Given the description of an element on the screen output the (x, y) to click on. 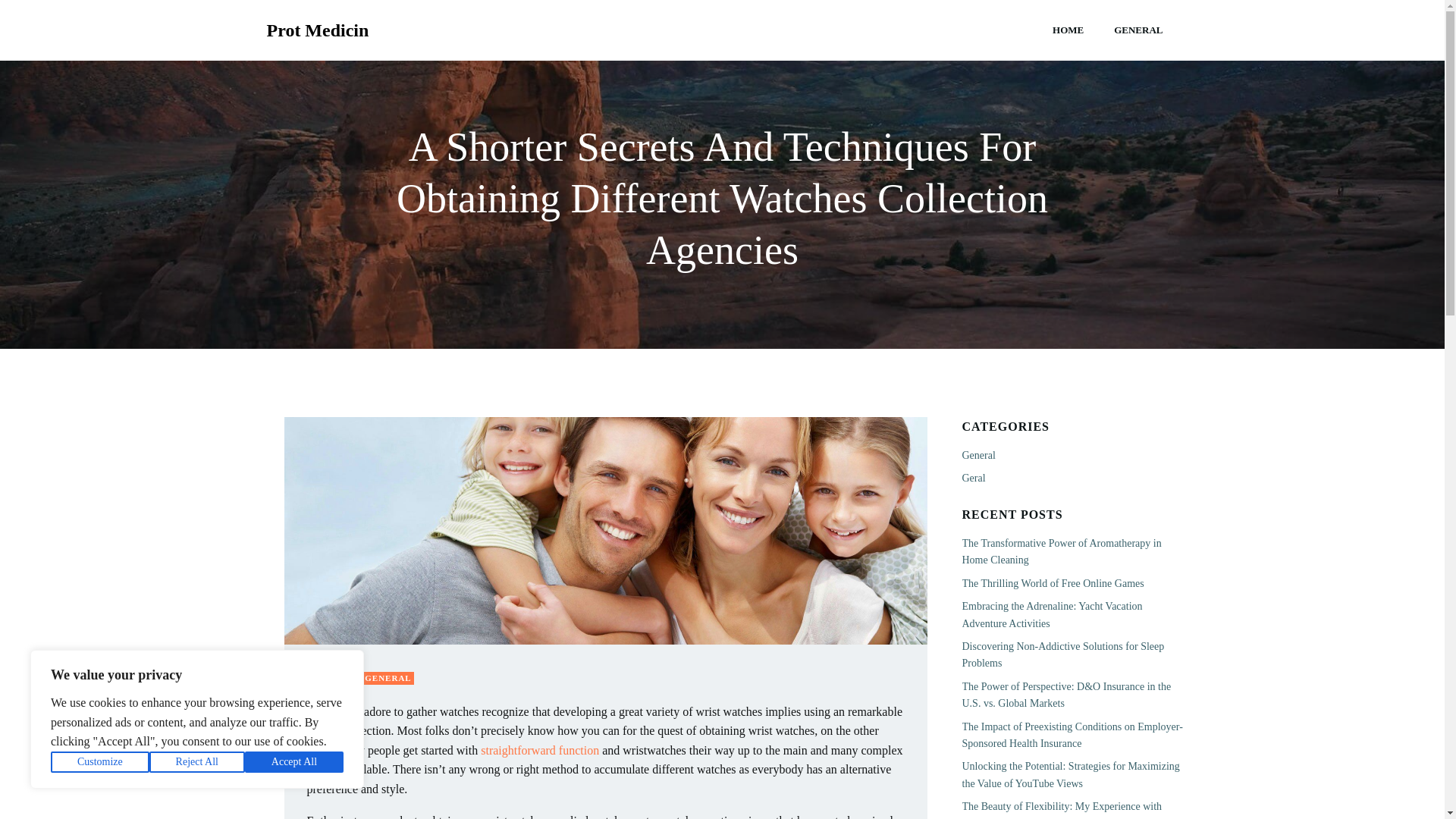
Reject All (196, 762)
Prot Medicin (317, 30)
Customize (99, 762)
Geral (972, 478)
Accept All (293, 762)
General (977, 455)
Discovering Non-Addictive Solutions for Sleep Problems (1061, 654)
The Transformative Power of Aromatherapy in Home Cleaning (1060, 551)
straightforward function (539, 749)
HOME (1067, 29)
